Given the description of an element on the screen output the (x, y) to click on. 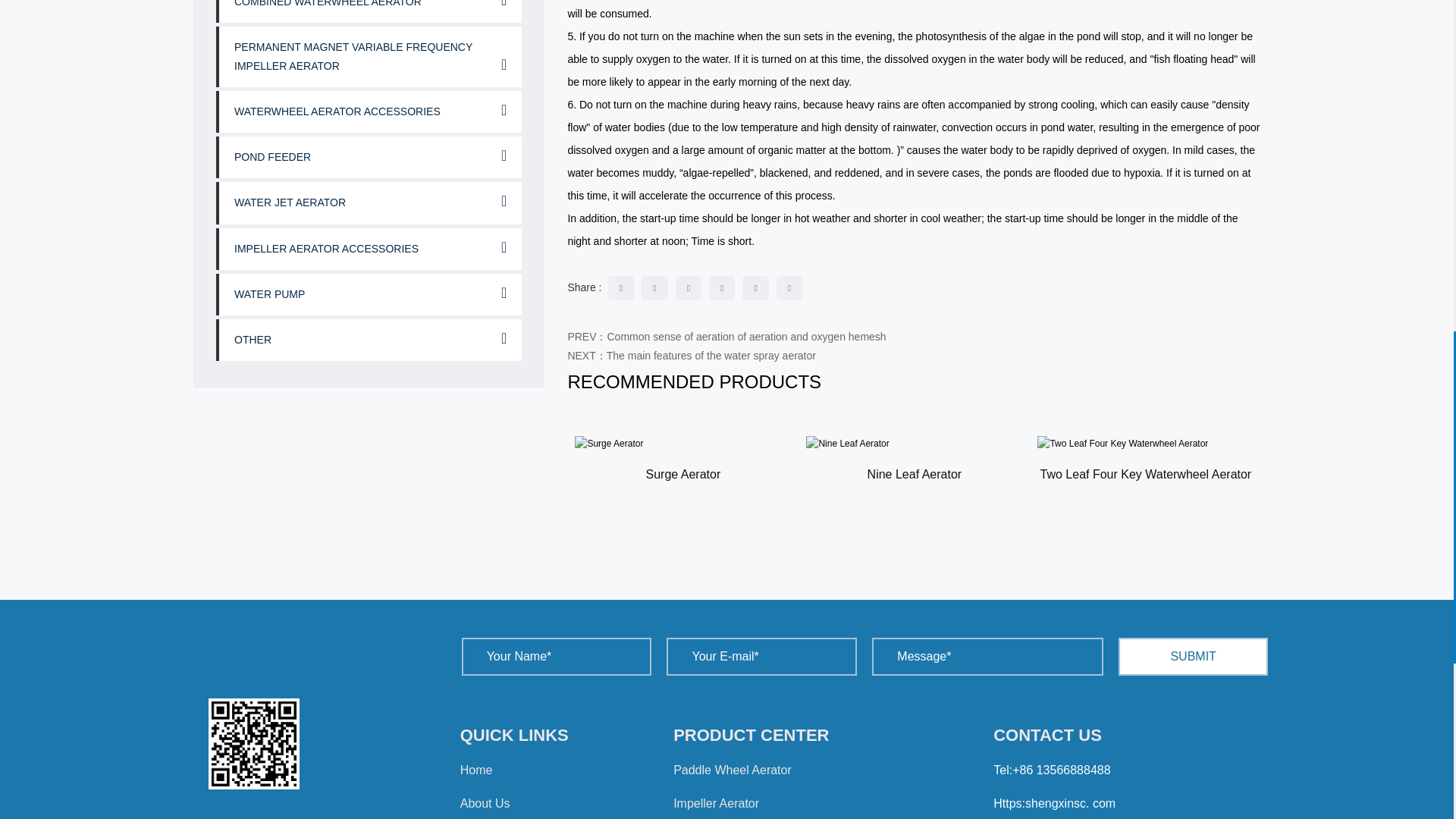
Submit (1193, 656)
